Given the description of an element on the screen output the (x, y) to click on. 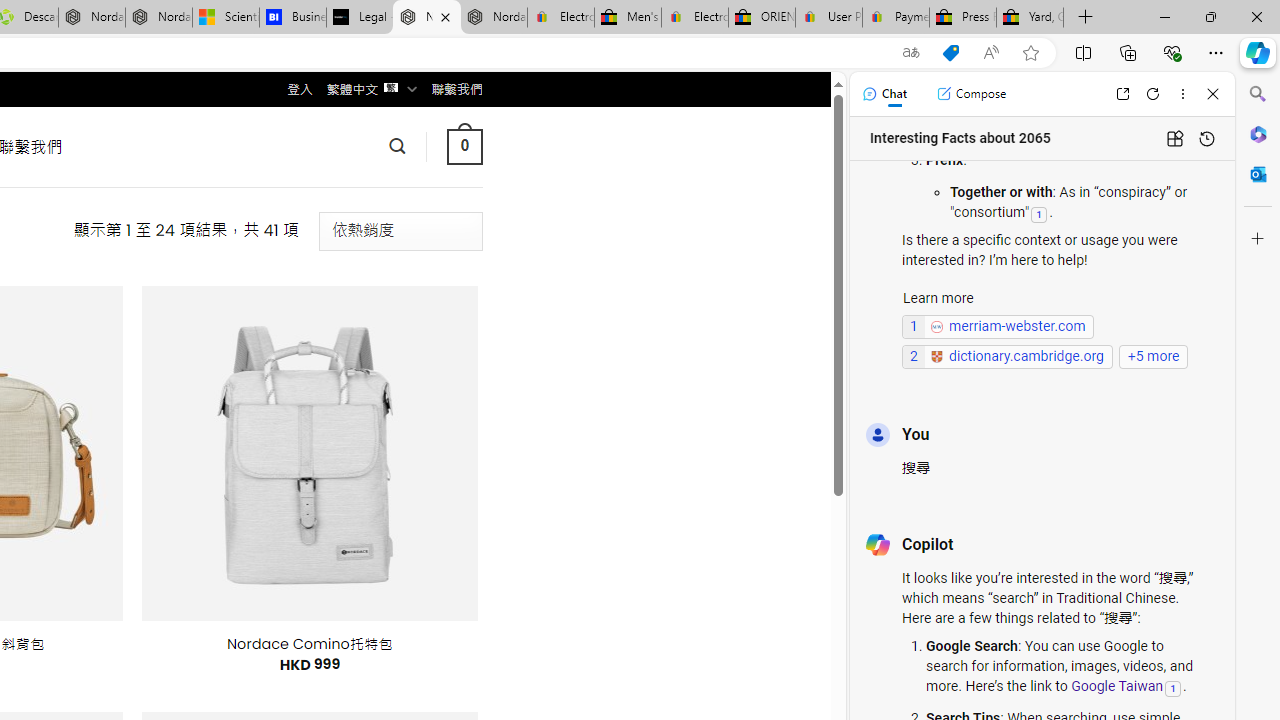
Payments Terms of Use | eBay.com (895, 17)
  0   (464, 146)
